Given the description of an element on the screen output the (x, y) to click on. 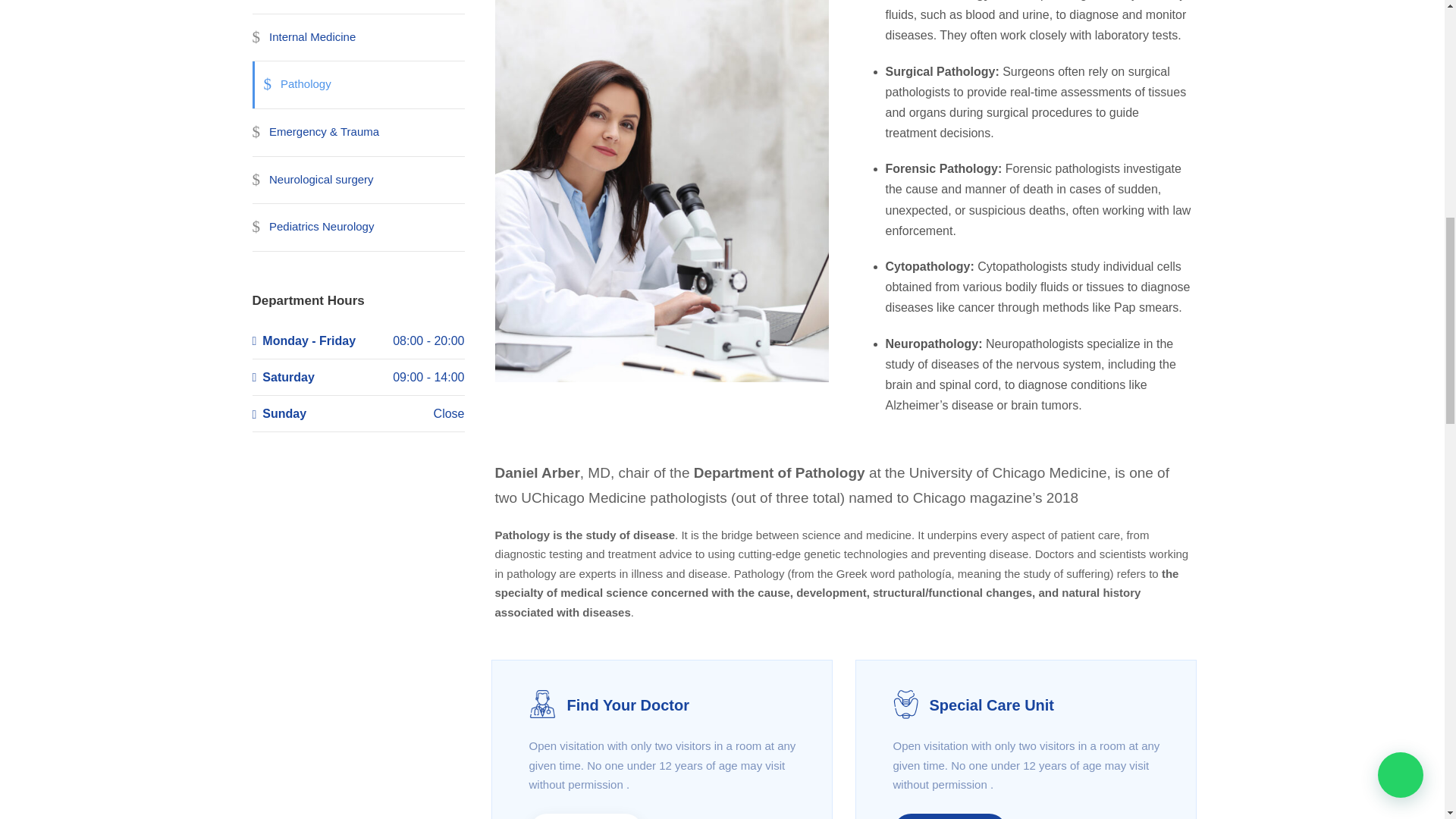
Neurological surgery (311, 180)
LEARN MORE (950, 816)
Pediatrics Neurology (312, 226)
Internal Medicine (303, 37)
LEARN MORE (586, 816)
Radiology (284, 6)
Pathology (290, 84)
icon-cl-dpment-1 (542, 704)
